Given the description of an element on the screen output the (x, y) to click on. 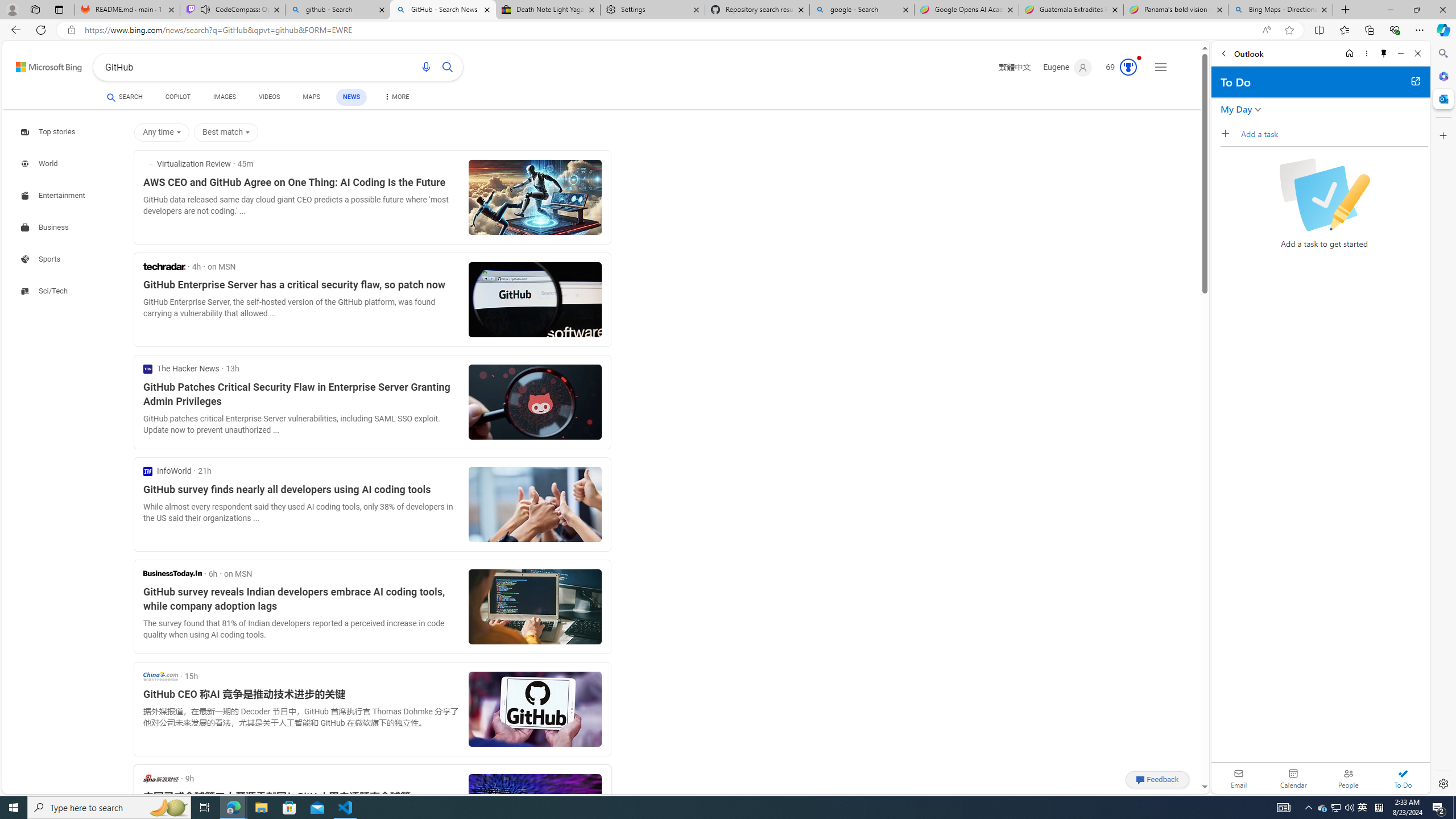
GitHub - Search News (442, 9)
Search news from Virtualization Review (186, 163)
github - Search (337, 9)
Search using voice (426, 66)
MAPS (311, 96)
Unpin side pane (1383, 53)
Dropdown Menu (395, 96)
Add a task (1334, 133)
